Given the description of an element on the screen output the (x, y) to click on. 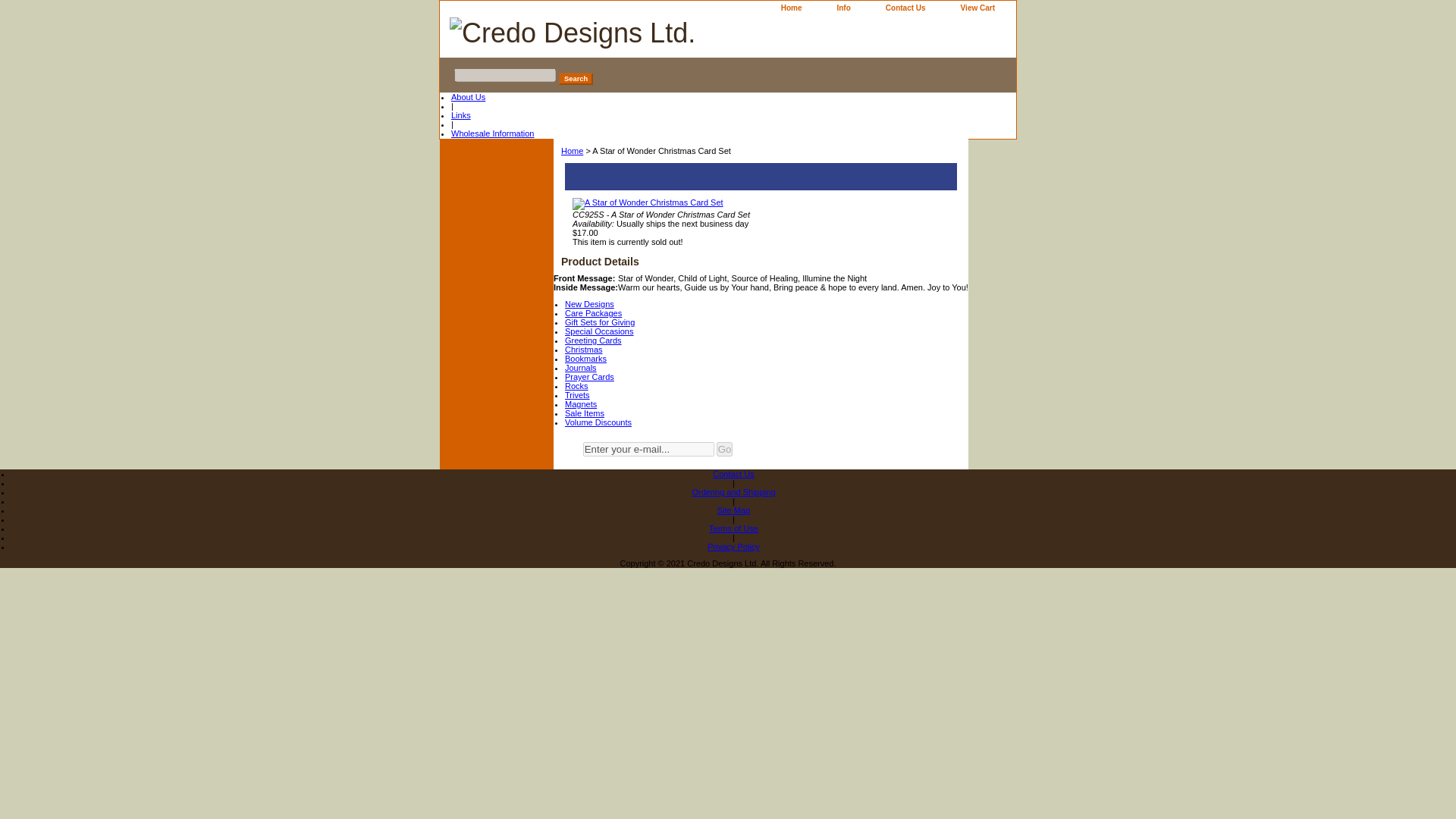
Sale Items (584, 412)
Terms of Use (733, 528)
Care Packages (592, 312)
New Designs (589, 303)
Search (575, 78)
Bookmarks (585, 358)
Rocks (576, 385)
Wholesale Information (492, 133)
Ordering and Shipping (732, 491)
Privacy Policy (732, 546)
